Given the description of an element on the screen output the (x, y) to click on. 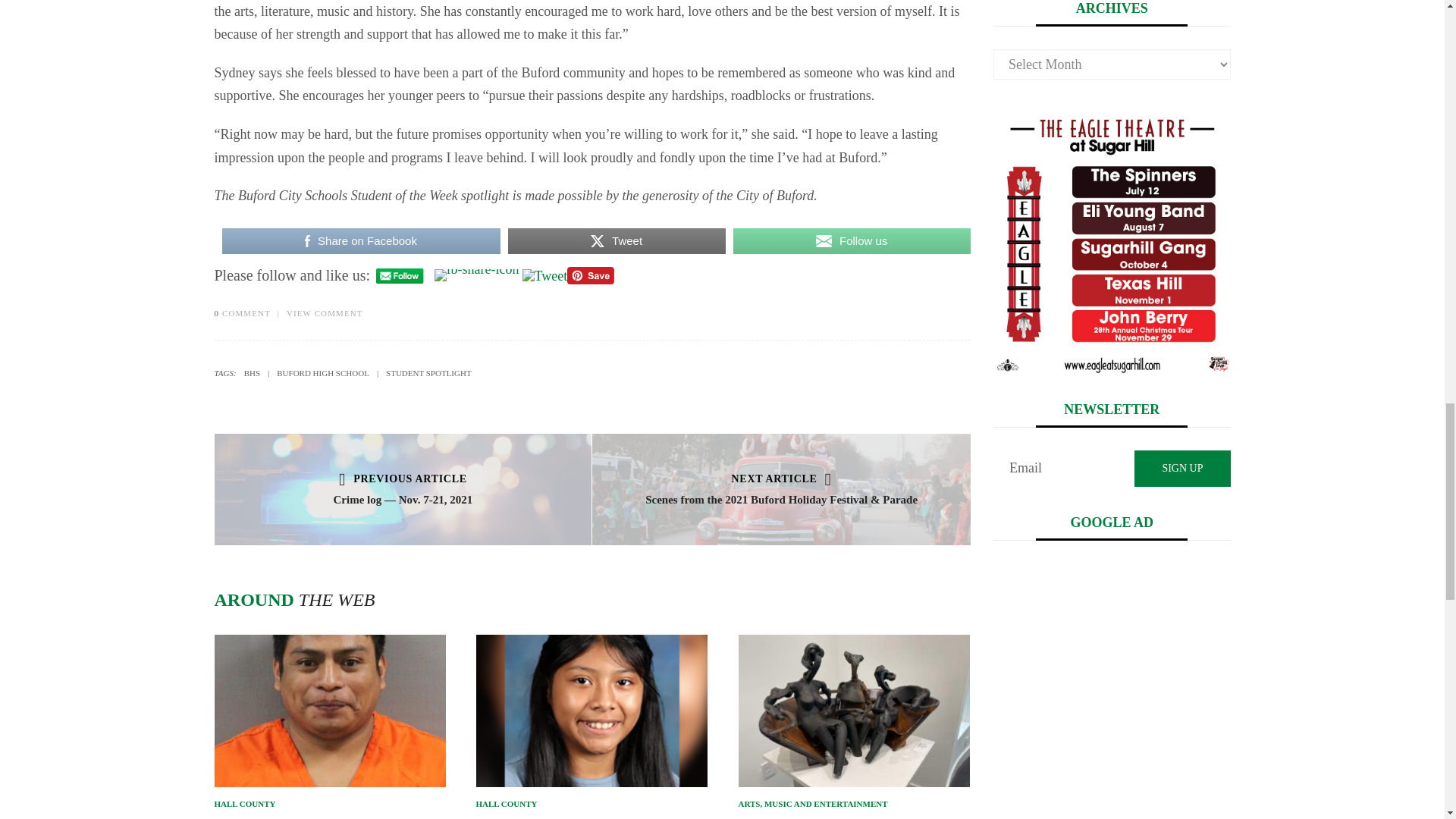
Follow us (852, 240)
SIGN UP (1182, 468)
Facebook Share (476, 275)
Share on Facebook (360, 240)
Tweet (616, 240)
Tweet (544, 275)
